Given the description of an element on the screen output the (x, y) to click on. 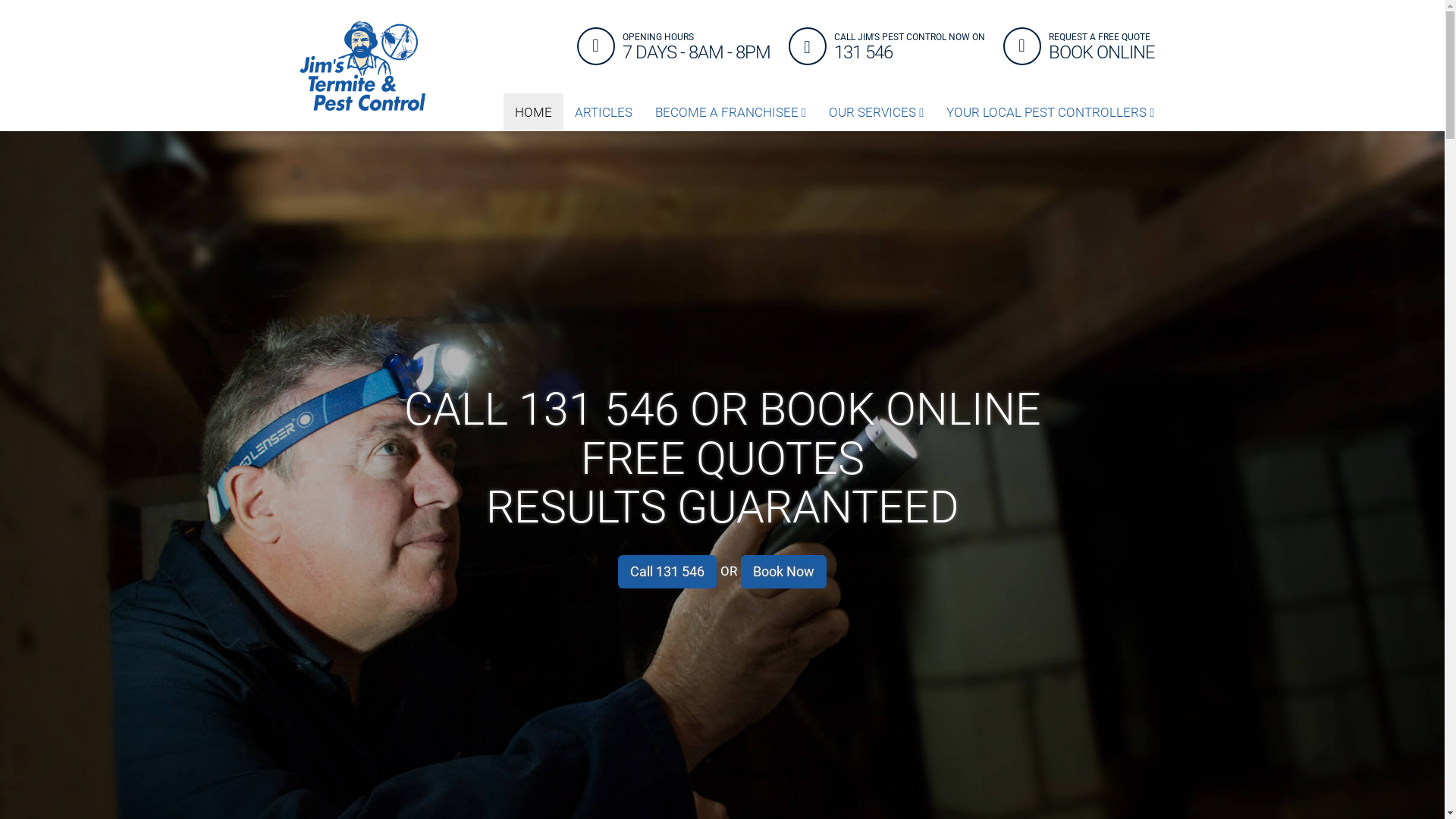
OUR SERVICES Element type: text (876, 112)
jpc-main-logo Element type: hover (361, 65)
YOUR LOCAL PEST CONTROLLERS Element type: text (1050, 112)
ARTICLES Element type: text (603, 112)
BECOME A FRANCHISEE Element type: text (730, 112)
Call 131 546 Element type: text (667, 571)
Book Now Element type: text (783, 571)
HOME Element type: text (533, 112)
